Given the description of an element on the screen output the (x, y) to click on. 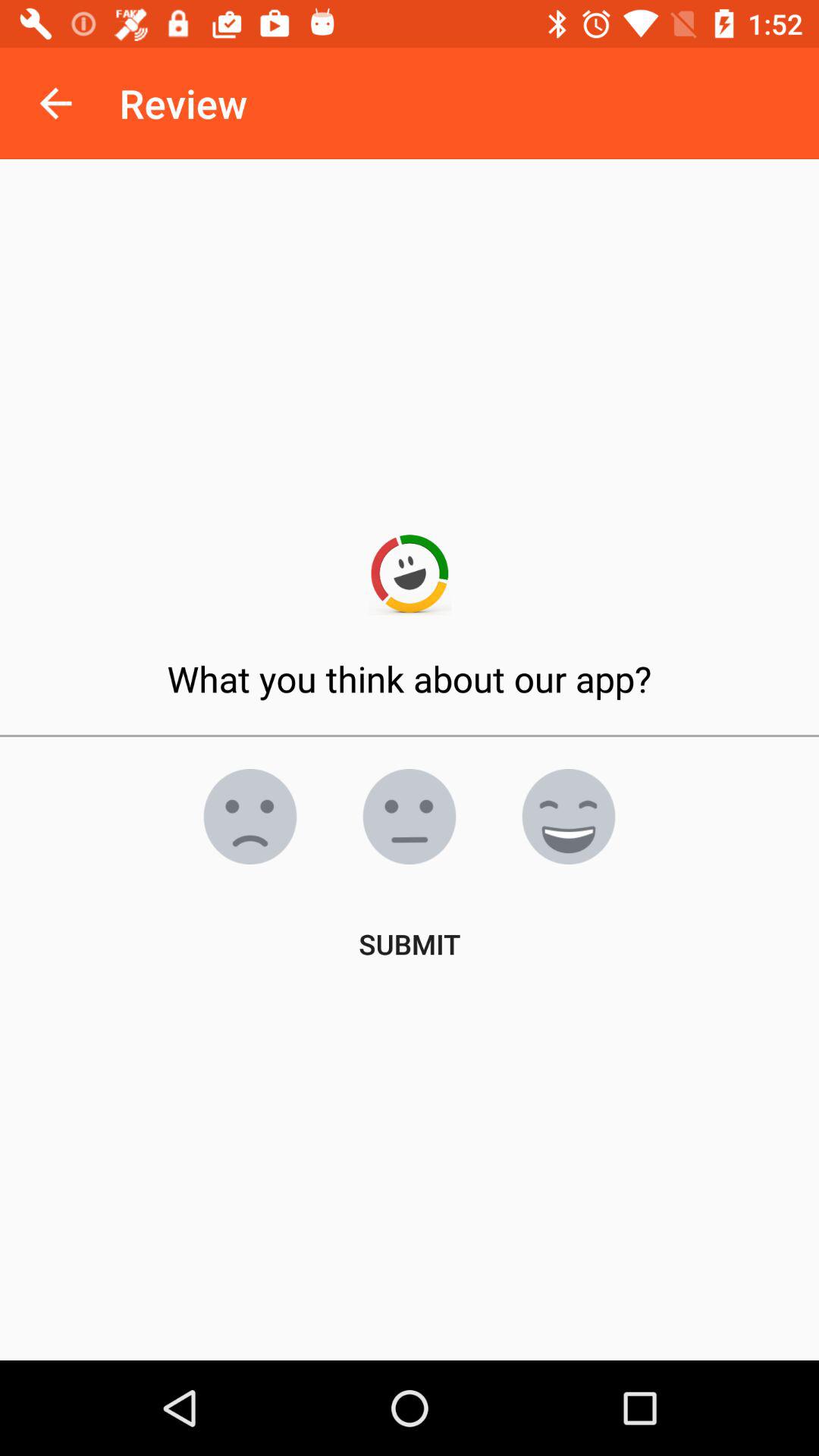
rate app as bad (249, 816)
